Given the description of an element on the screen output the (x, y) to click on. 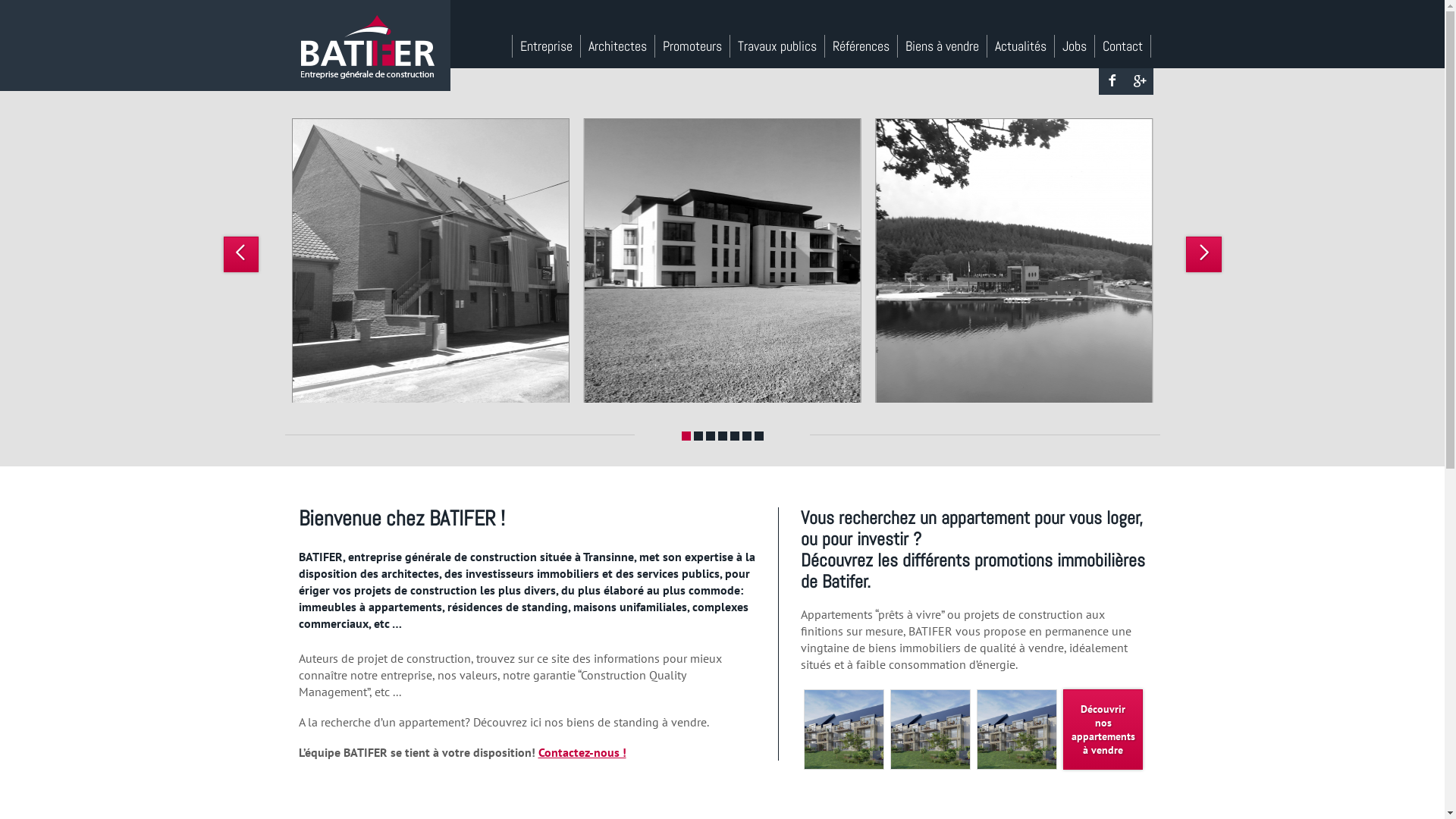
Travaux publics Element type: text (776, 45)
Jobs Element type: text (1074, 45)
Contactez-nous ! Element type: text (582, 751)
Architectes Element type: text (617, 45)
Contact Element type: text (1123, 45)
Promoteurs Element type: text (692, 45)
Entreprise Element type: text (545, 45)
